Given the description of an element on the screen output the (x, y) to click on. 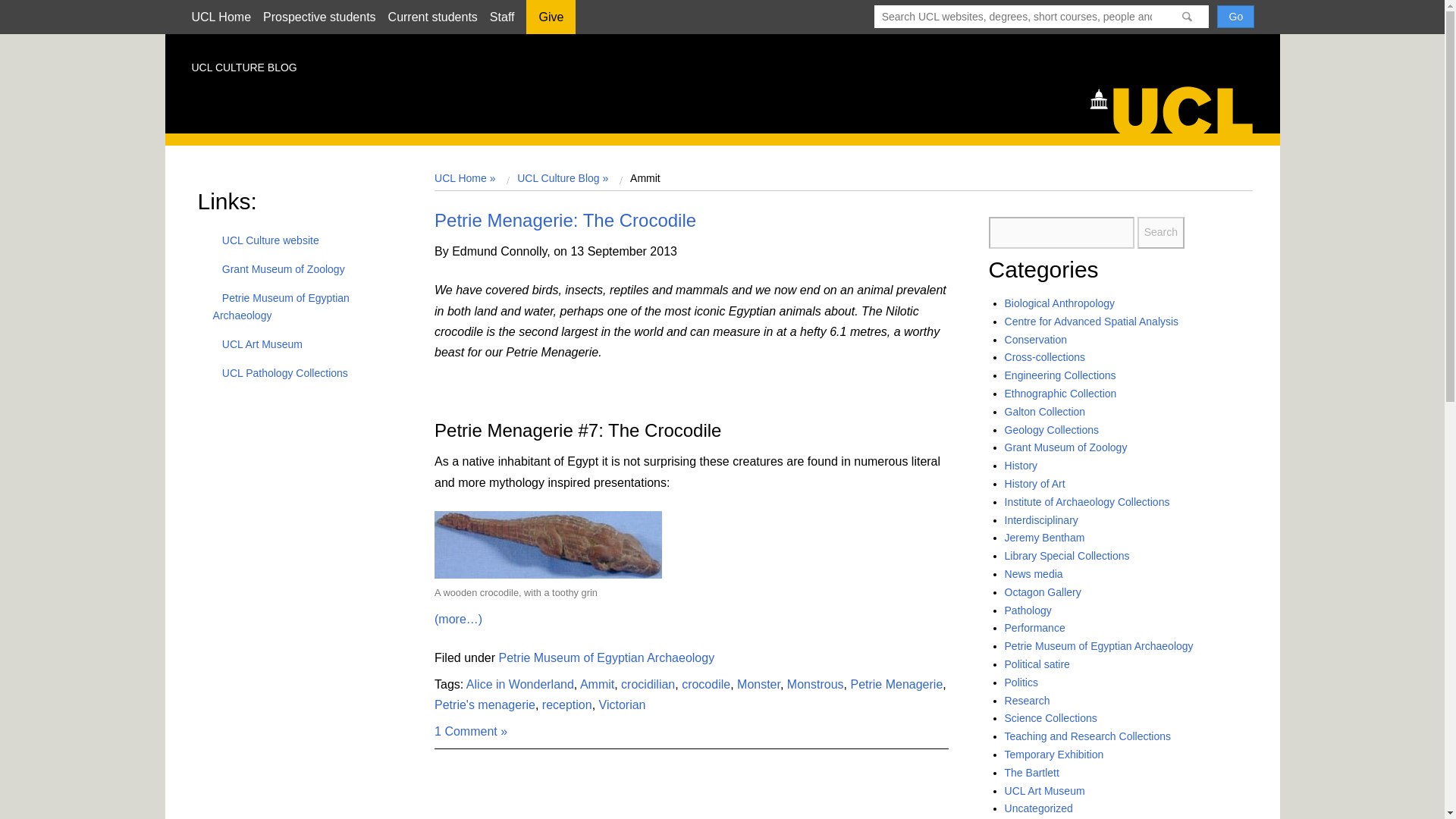
UCL Home (220, 16)
Biological Anthropology (1059, 303)
Ammit (596, 684)
Alice in Wonderland (519, 684)
Petrie Menagerie (896, 684)
Conservation (1035, 339)
Monstrous (815, 684)
Petrie Museum of Egyptian Archaeology (606, 657)
Prospective students (319, 16)
Go (1235, 15)
